Given the description of an element on the screen output the (x, y) to click on. 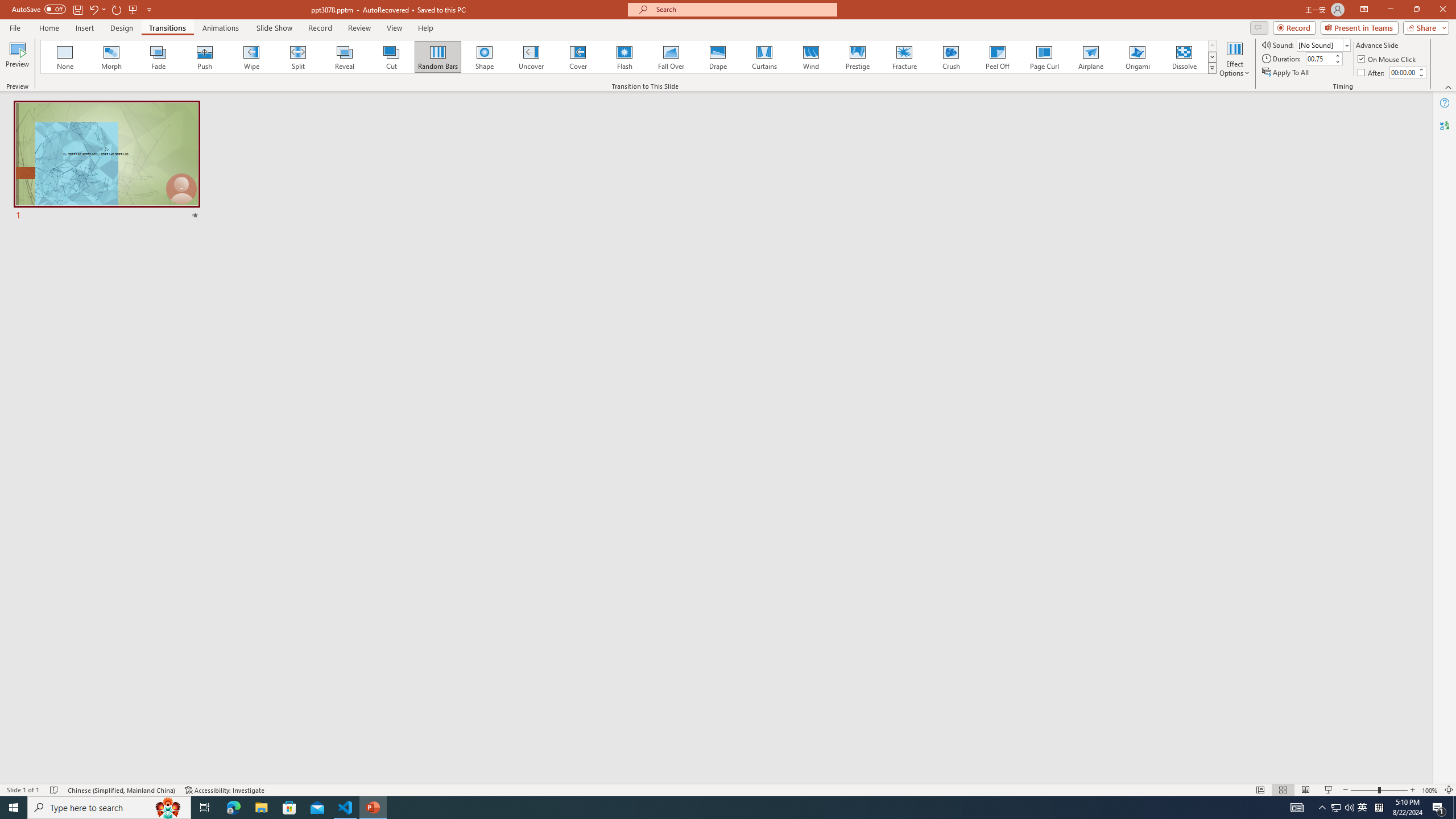
Apply To All (1286, 72)
Zoom 100% (1430, 790)
Airplane (1090, 56)
On Mouse Click (1387, 58)
Transition Effects (1212, 67)
